Given the description of an element on the screen output the (x, y) to click on. 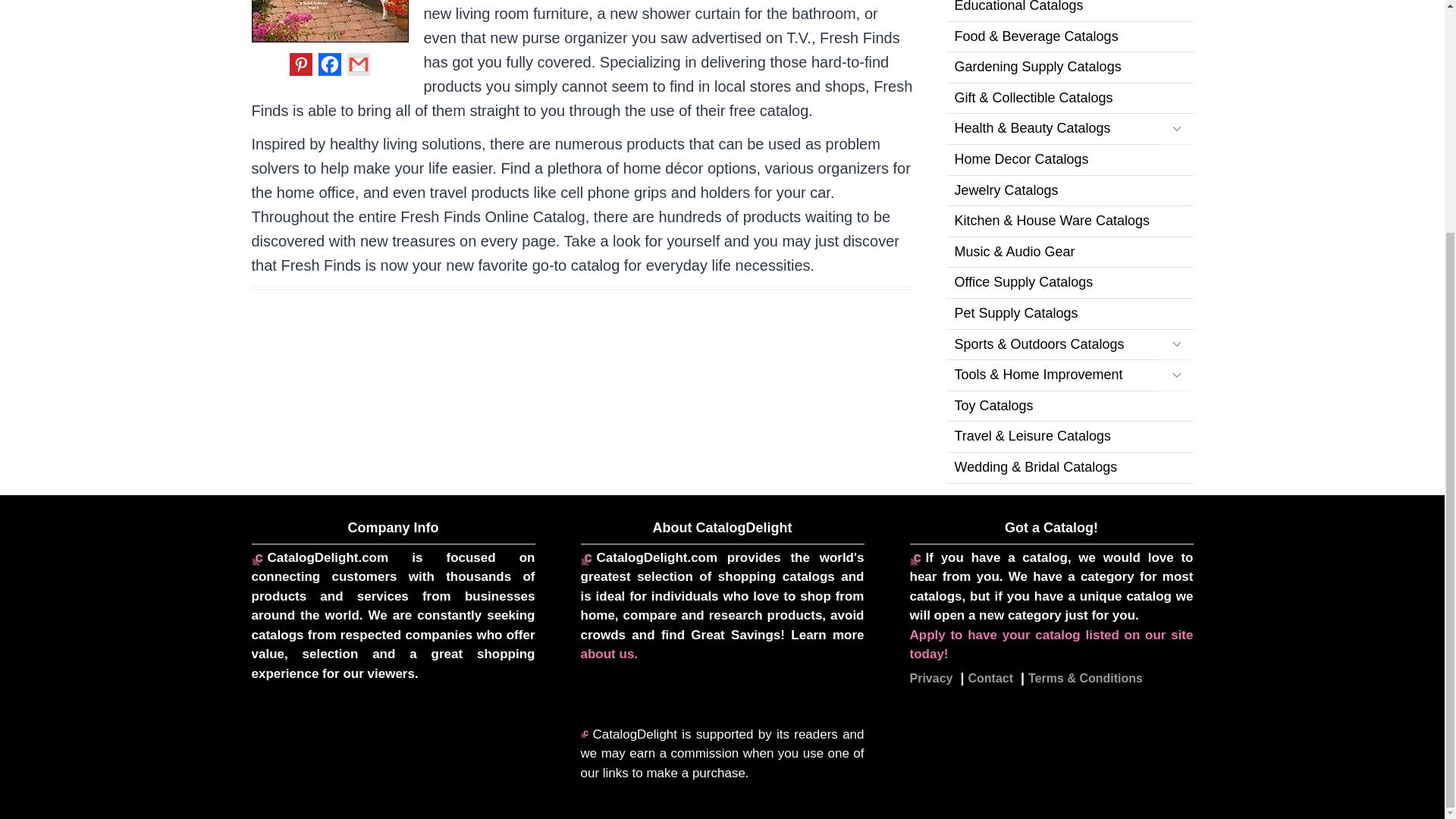
Facebook (329, 63)
Pet Supply Catalogs (1069, 314)
Office Supply Catalogs (1069, 282)
Educational Catalogs (1069, 11)
Google Gmail (358, 63)
Toggle child menu (1175, 128)
Pinterest (301, 63)
Gardening Supply Catalogs (1069, 67)
Home Decor Catalogs (1069, 160)
Jewelry Catalogs (1069, 191)
